Given the description of an element on the screen output the (x, y) to click on. 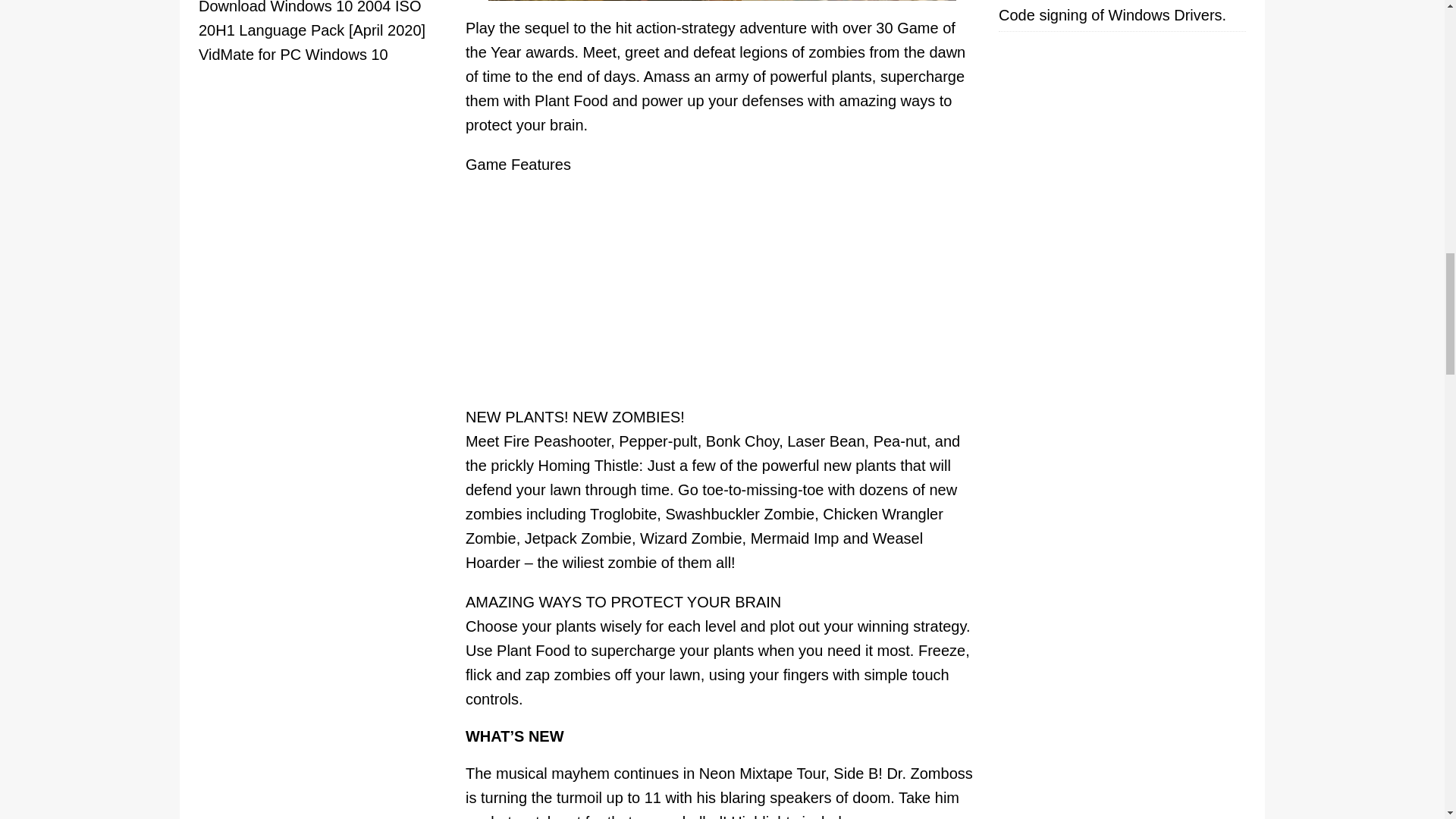
Advertisement (722, 297)
VidMate for PC Windows 10 (293, 54)
